Given the description of an element on the screen output the (x, y) to click on. 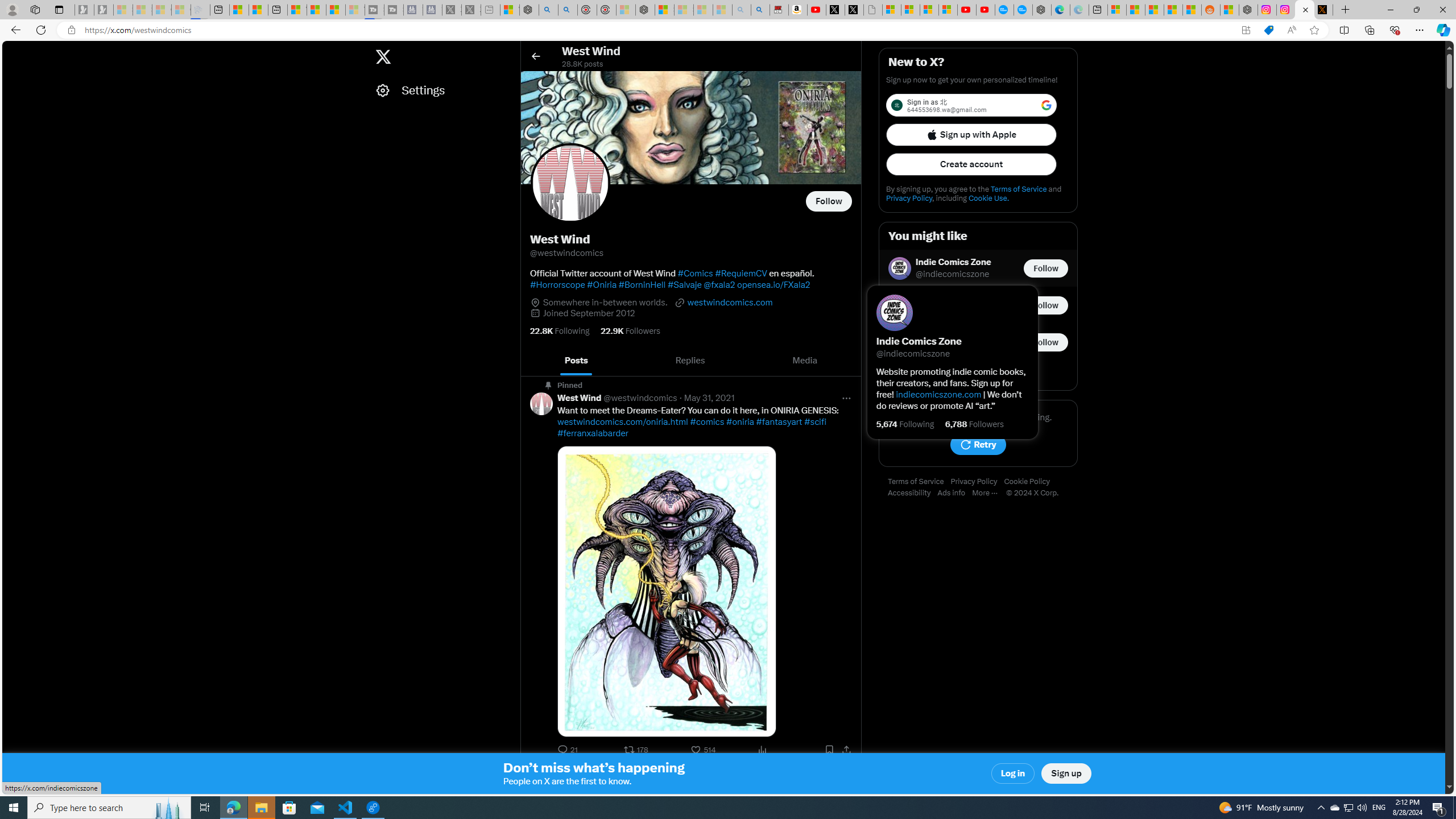
Accessibility (912, 492)
poe - Search (548, 9)
Media (804, 360)
Terms of Service (919, 481)
21 Replies. Reply (568, 749)
Newsletter Sign Up - Sleeping (102, 9)
opensea.io/FXala2 (773, 284)
#comics (707, 421)
Replies (689, 360)
@deanetts (936, 311)
#Comics (695, 272)
